Given the description of an element on the screen output the (x, y) to click on. 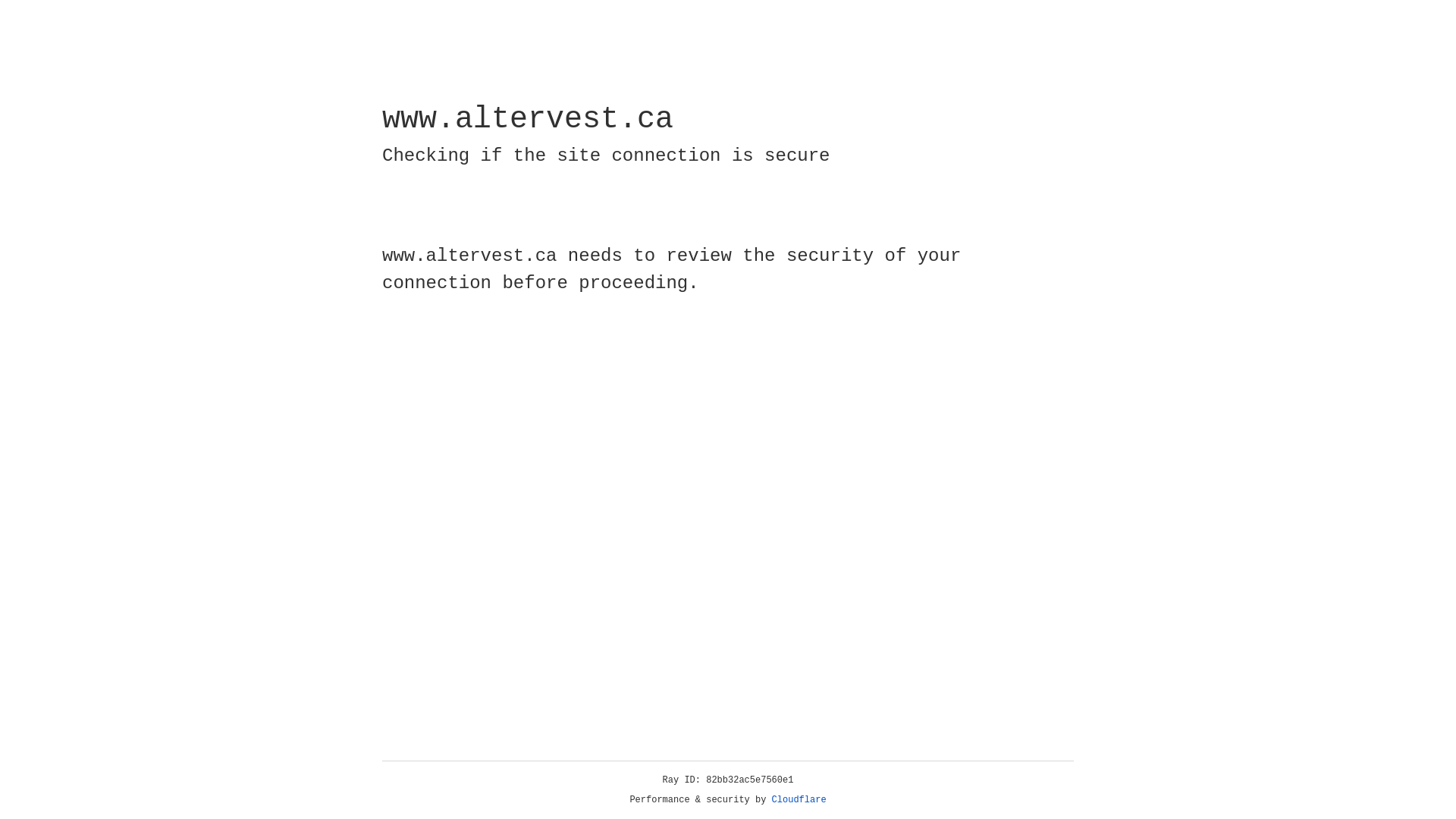
Cloudflare Element type: text (798, 799)
